Given the description of an element on the screen output the (x, y) to click on. 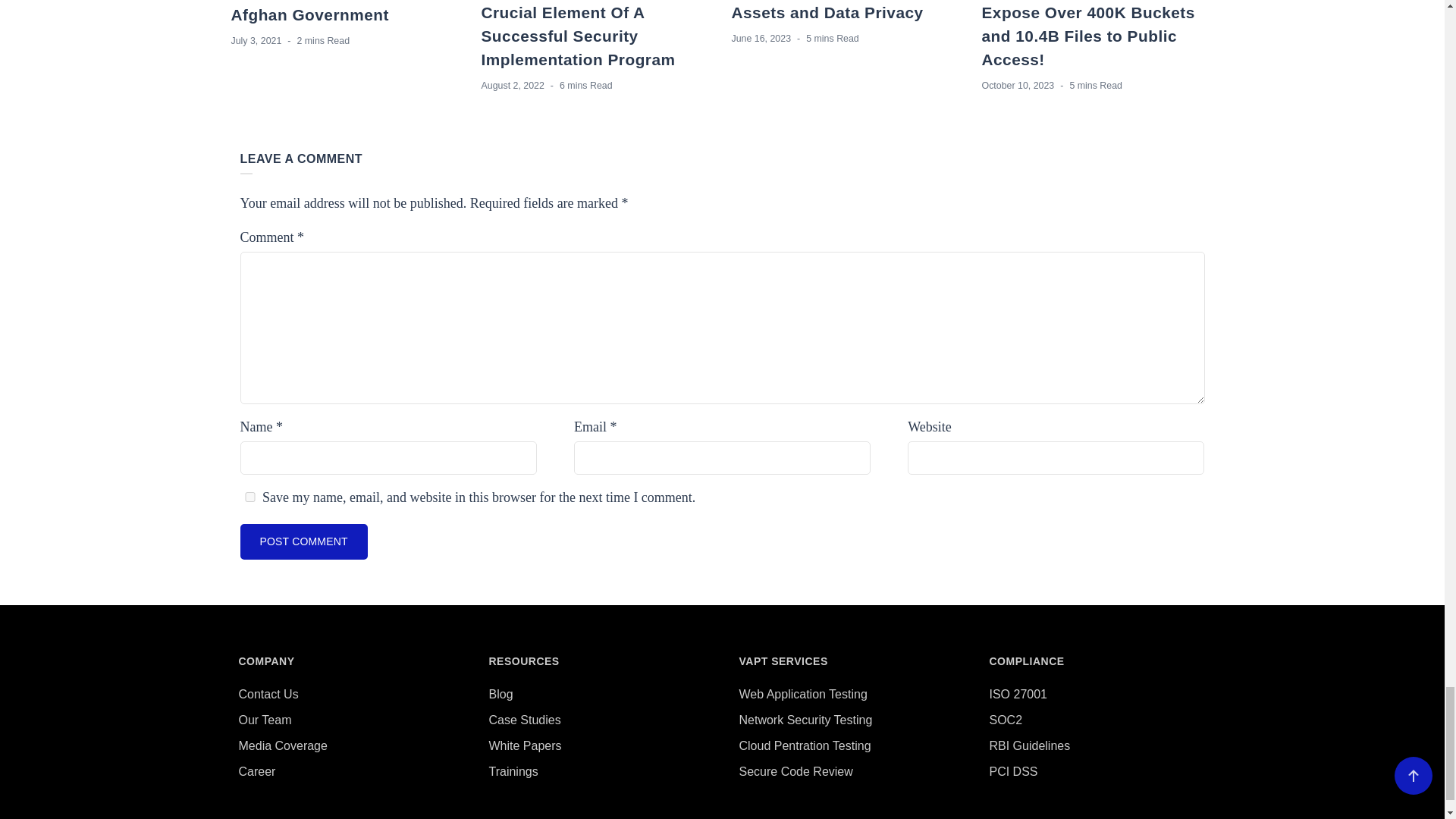
yes (249, 497)
Post Comment (303, 542)
